Given the description of an element on the screen output the (x, y) to click on. 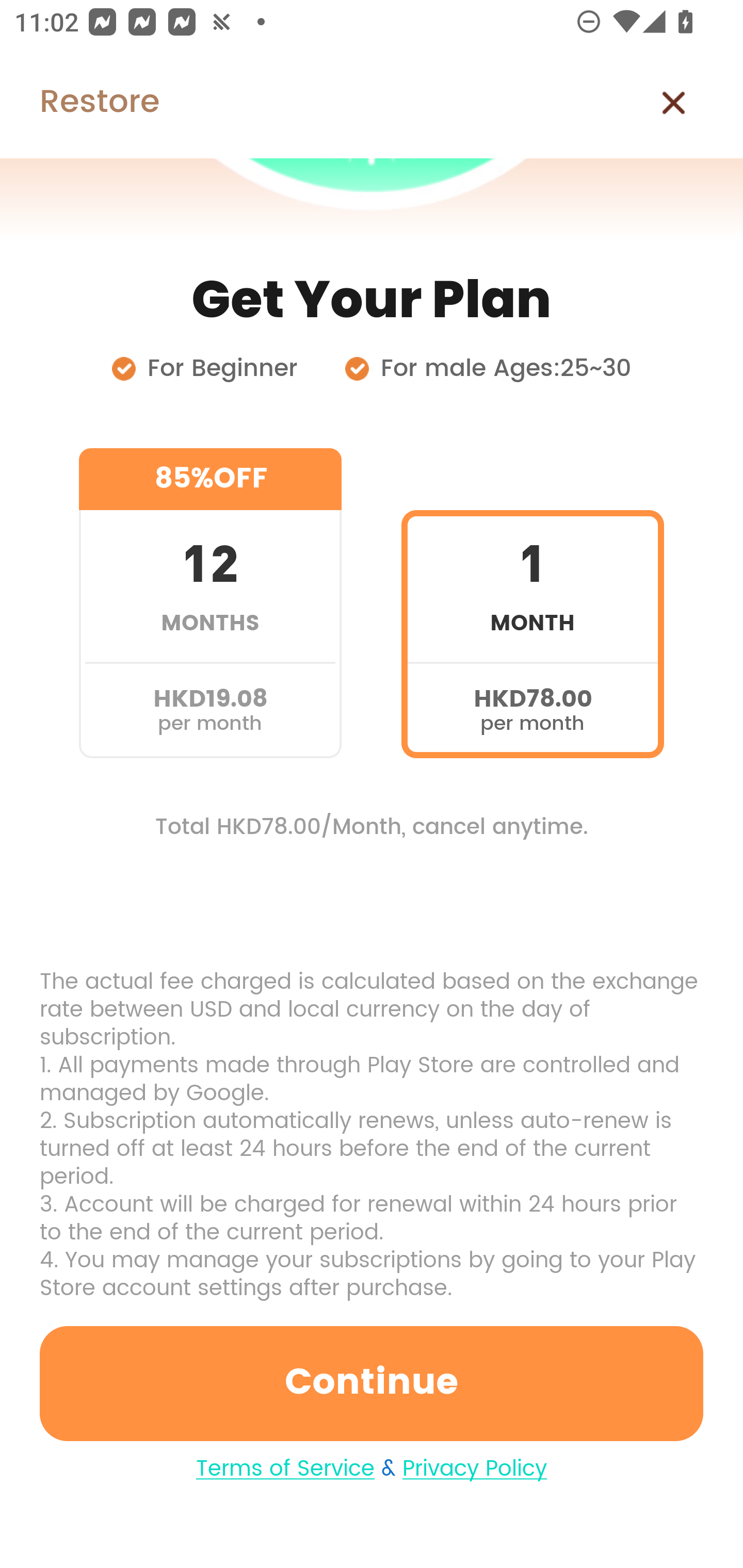
Restore (79, 102)
85%OFF 12 MONTHS per month HKD19.08 (209, 603)
1 MONTH per month HKD78.00 (532, 603)
Continue (371, 1383)
